Given the description of an element on the screen output the (x, y) to click on. 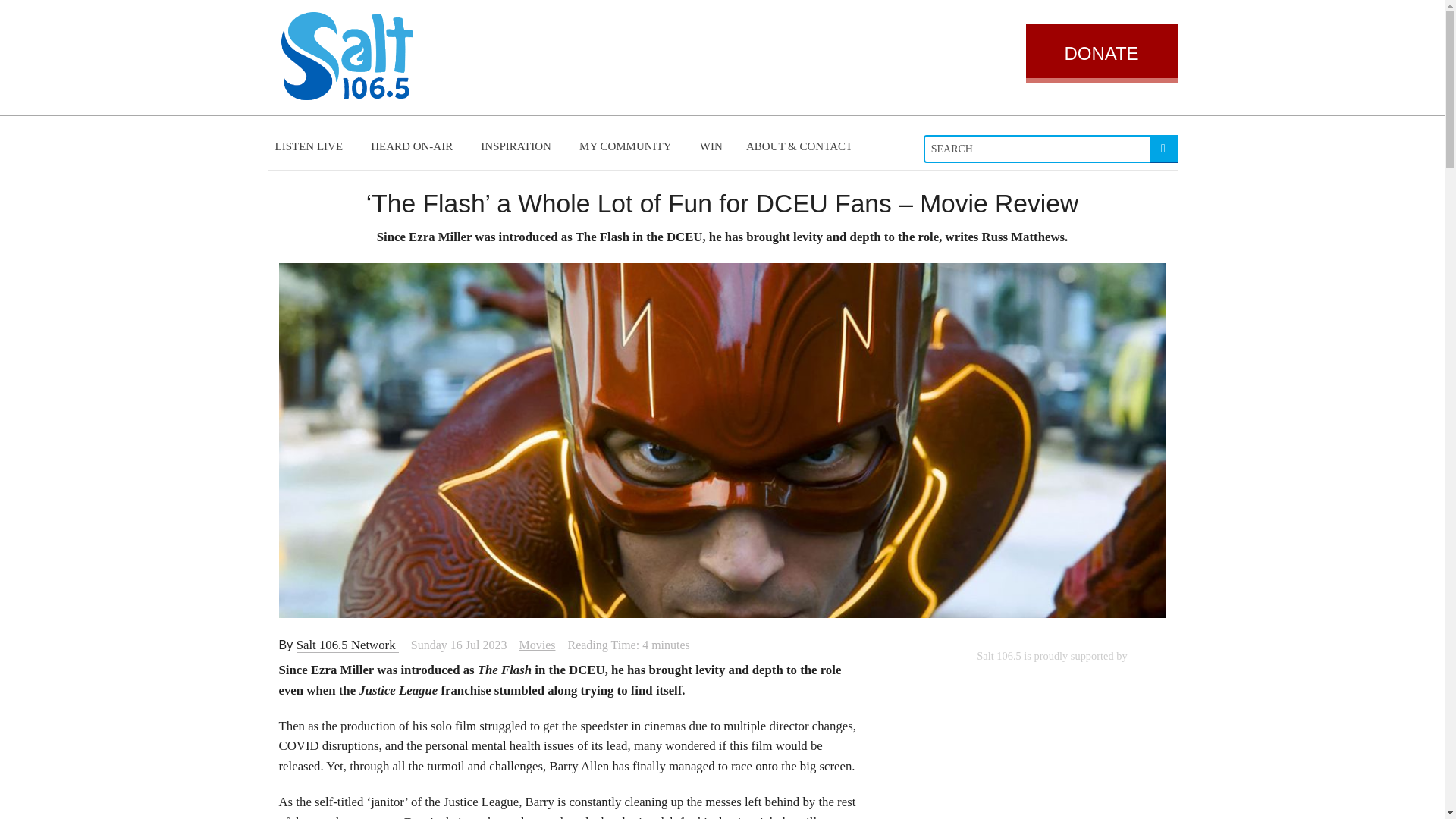
HEARD ON-AIR (413, 146)
MY COMMUNITY (628, 146)
LISTEN LIVE (310, 146)
3rd party ad content (1051, 742)
WIN (711, 146)
INSPIRATION (518, 146)
DONATE (1100, 53)
